Given the description of an element on the screen output the (x, y) to click on. 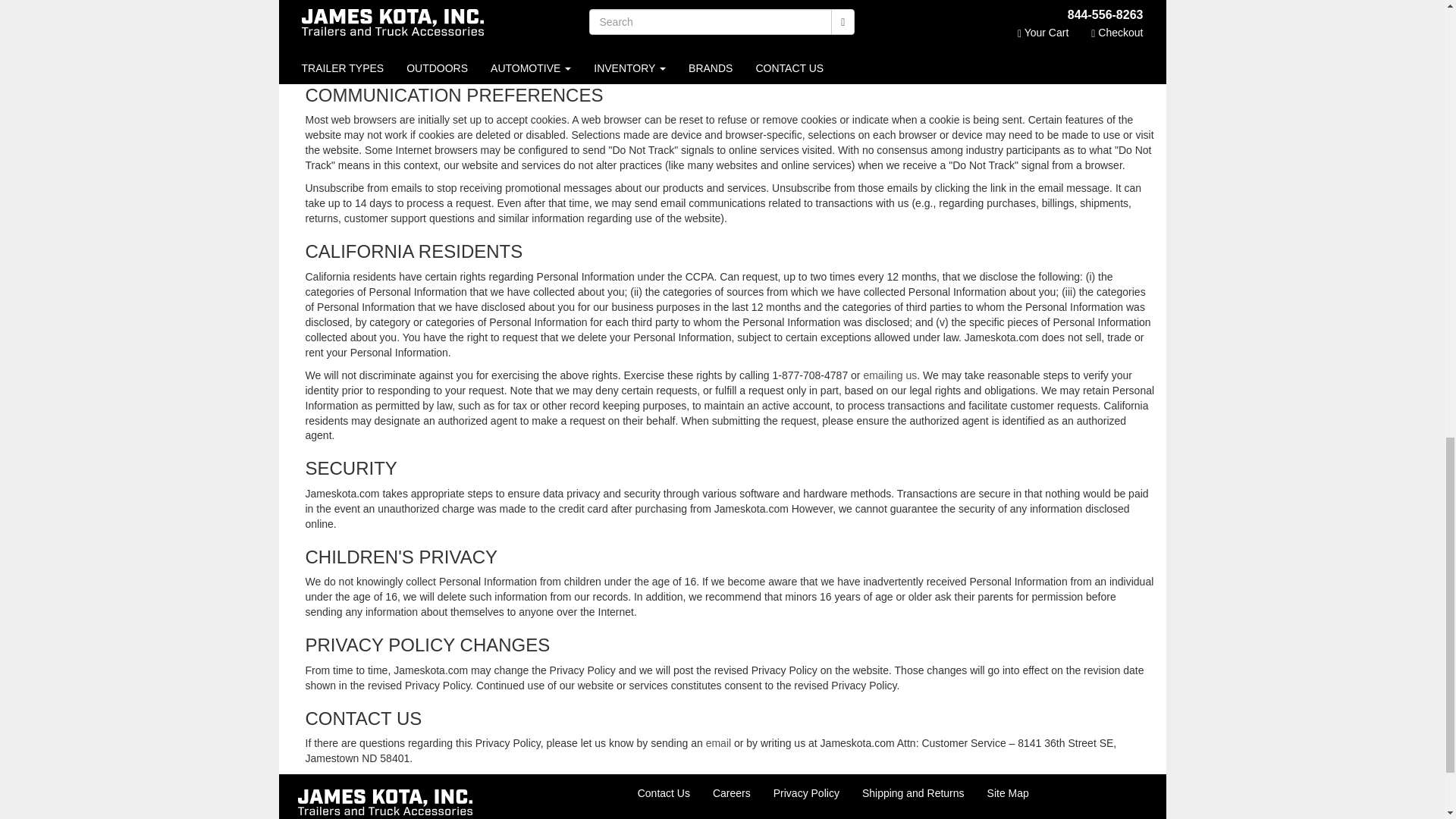
Shipping and Returns (912, 792)
emailing us (890, 375)
Site Map (1008, 792)
Privacy Policy (805, 792)
email (718, 743)
Careers (731, 792)
Contact Us (663, 792)
